Given the description of an element on the screen output the (x, y) to click on. 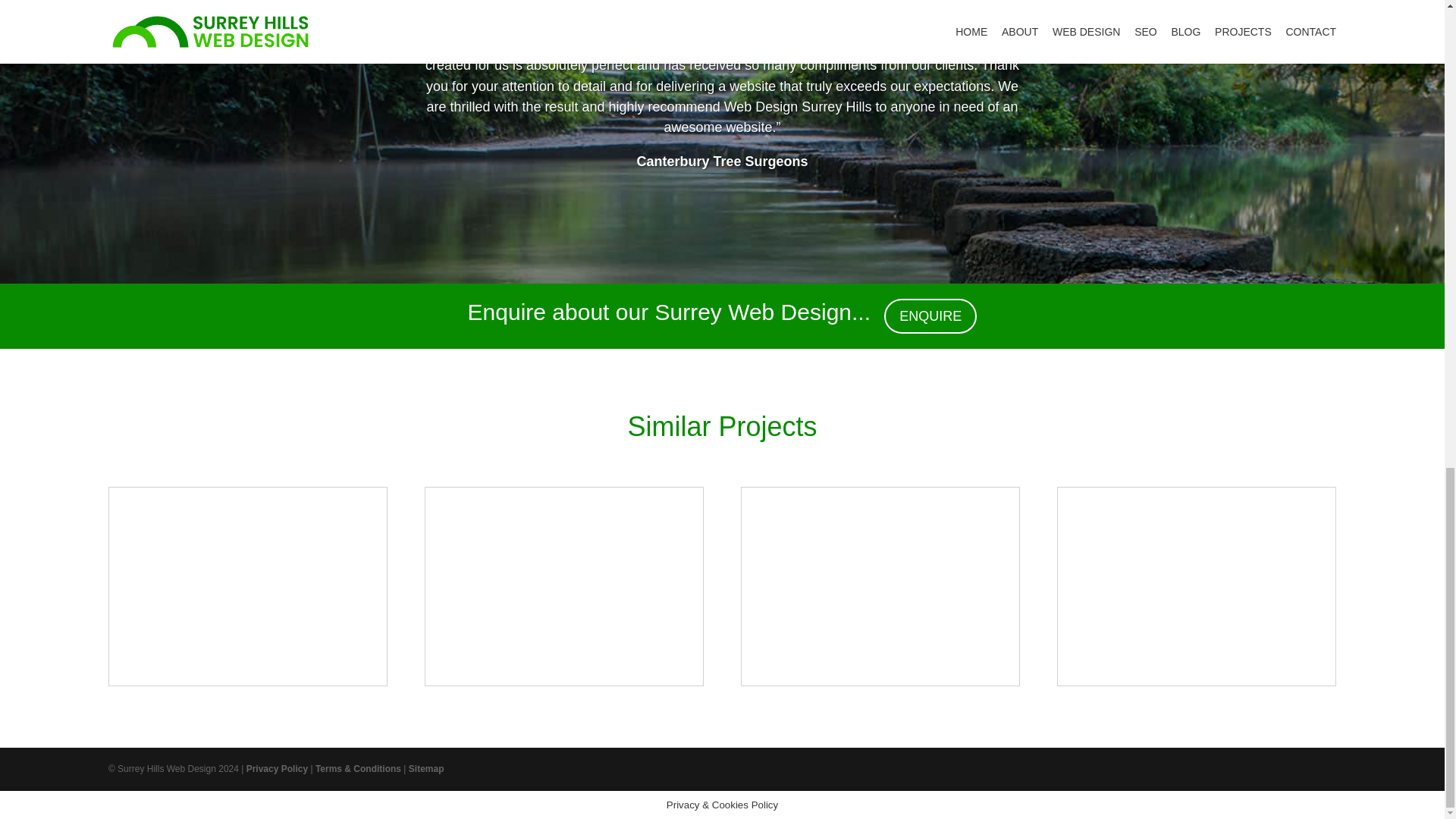
Privacy Policy (276, 768)
Sitemap (426, 768)
My Builder Essex (564, 585)
ENQUIRE (929, 315)
Pebble Dashing (1196, 585)
Grind My Stump (880, 585)
NVR Electrical (248, 585)
